Given the description of an element on the screen output the (x, y) to click on. 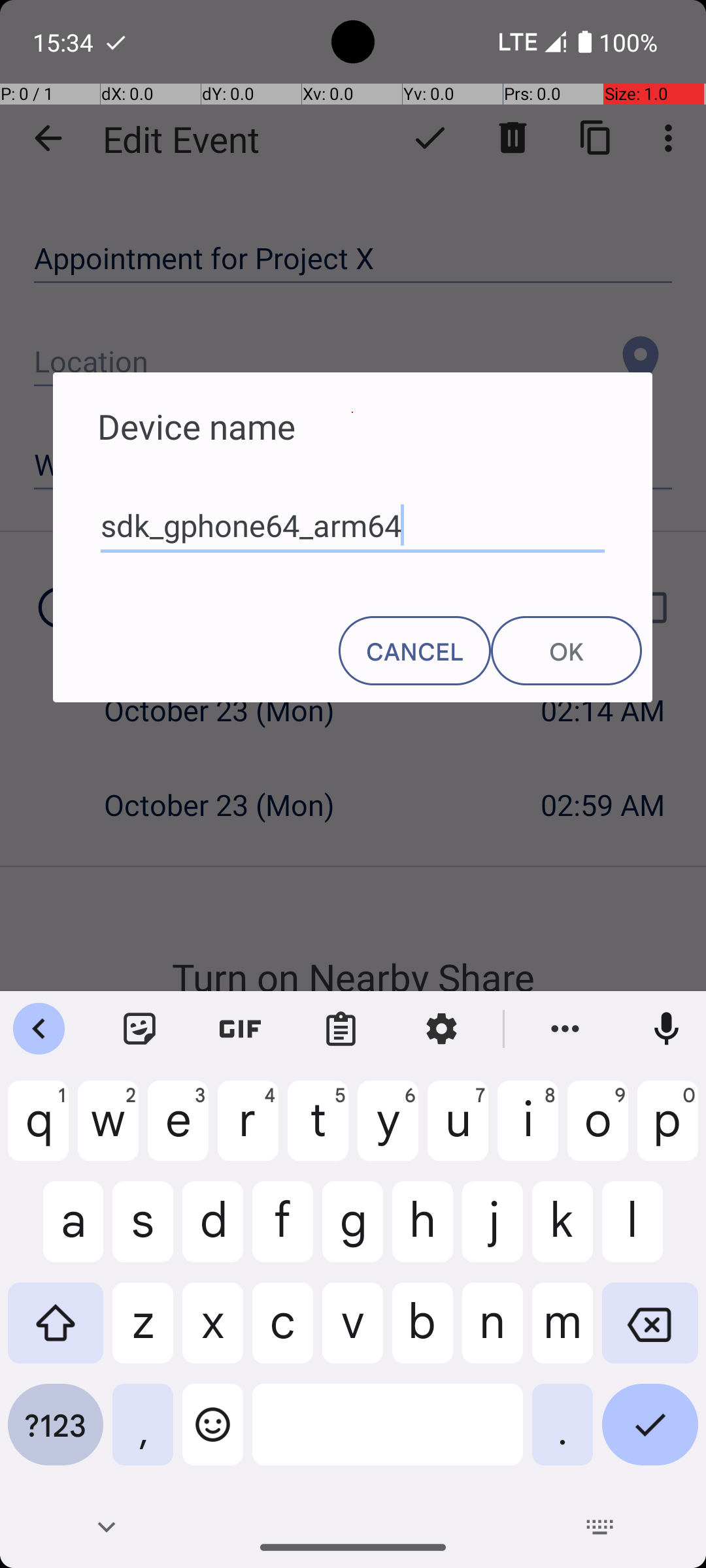
Device name Element type: android.widget.TextView (352, 412)
